Given the description of an element on the screen output the (x, y) to click on. 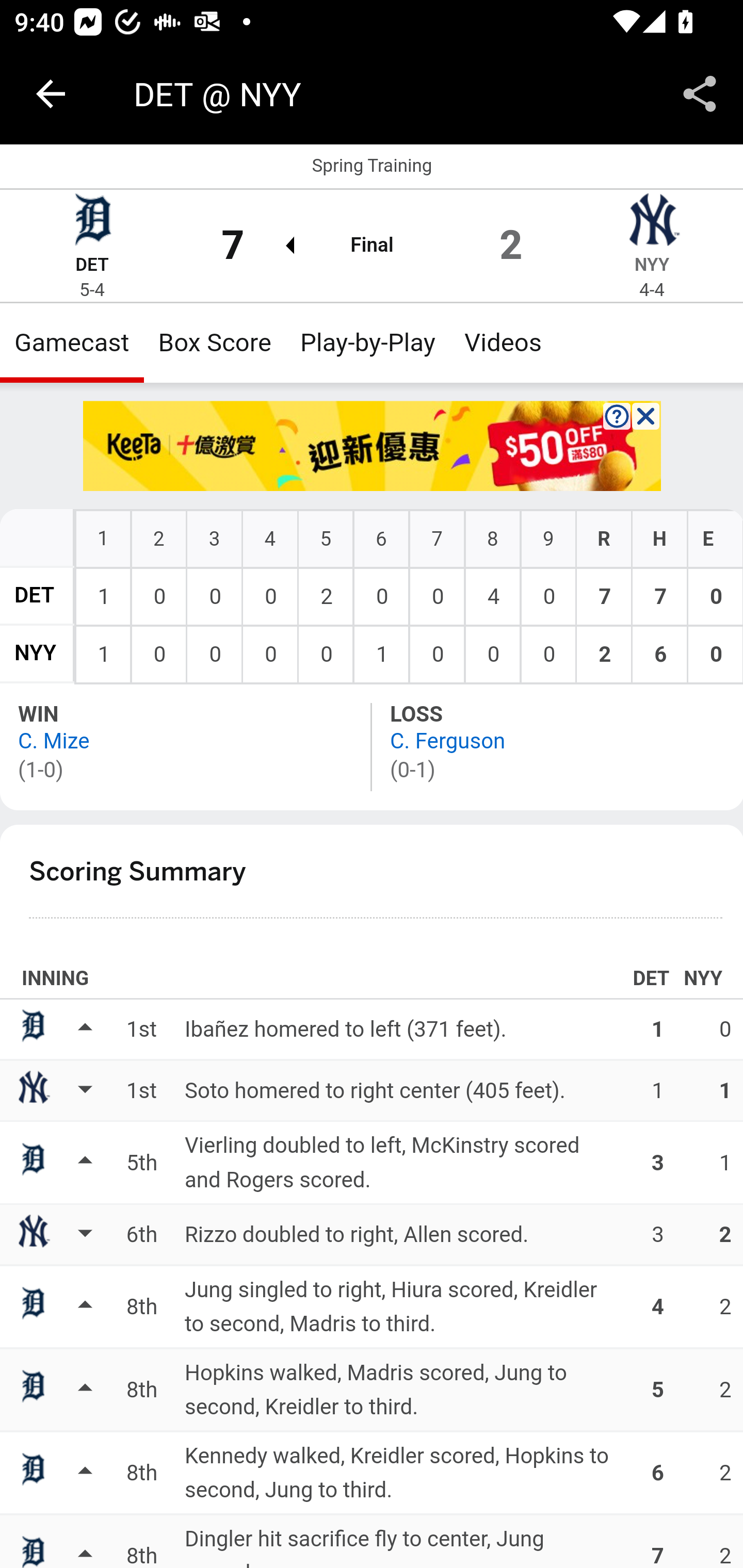
Navigate up (50, 93)
Share (699, 93)
Detroit Tigers (91, 221)
New York Yankees (651, 221)
DET (91, 264)
NYY (651, 264)
Gamecast (72, 342)
Box Score (214, 342)
Play-by-Play (368, 342)
Videos (502, 342)
DET (34, 595)
NYY (35, 653)
WIN C. Mize (1-0) WIN C. Mize (1-0) (186, 746)
LOSS C. Ferguson (0-1) LOSS C. Ferguson (0-1) (557, 746)
